Given the description of an element on the screen output the (x, y) to click on. 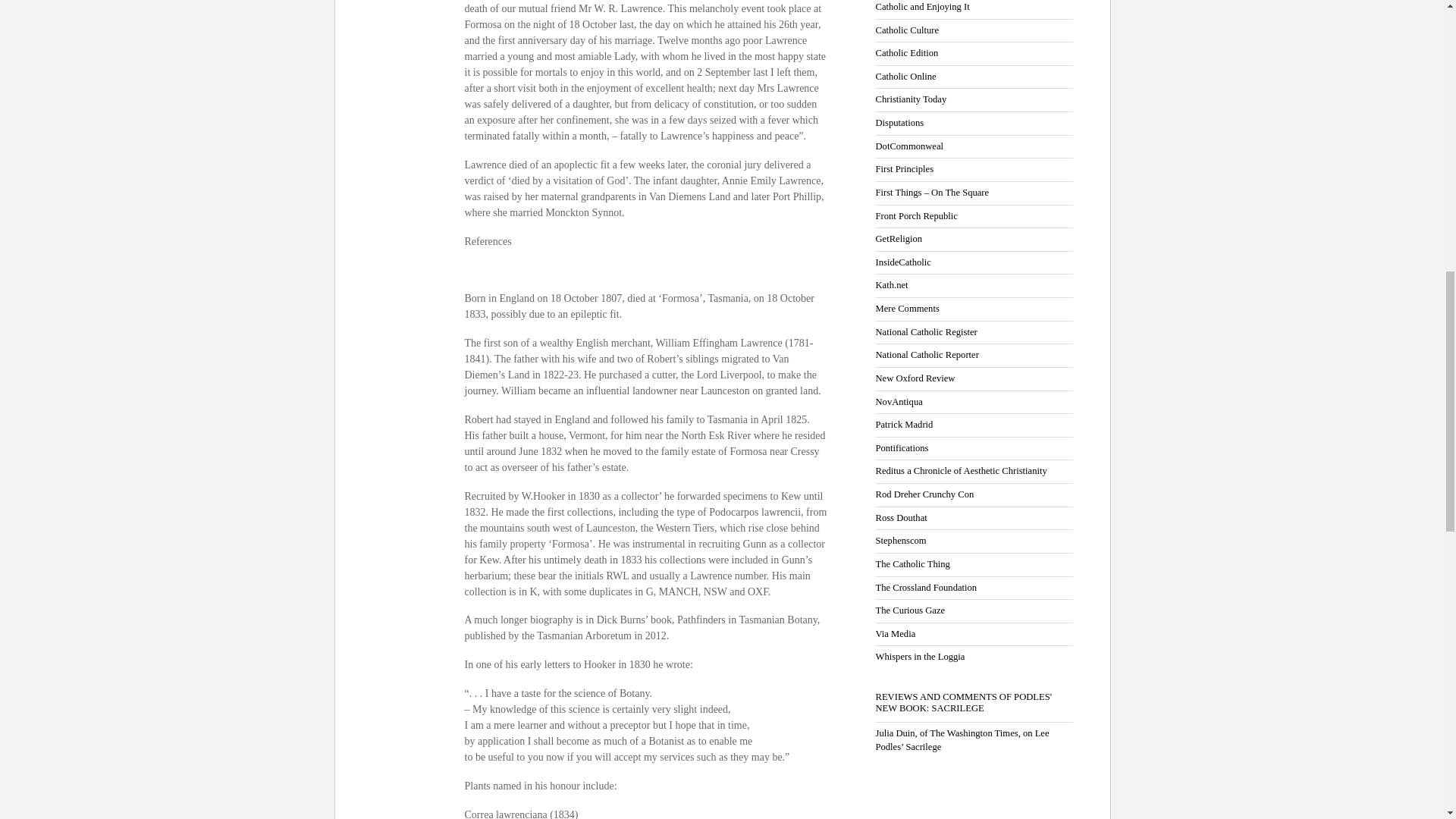
Online Catholic news source (906, 52)
Catholic and Enjoying It (922, 6)
Disputations (899, 122)
Catholic Online News. Inform. Inspire. Ignite. (905, 76)
A blog run by John da Fiesole   (899, 122)
DotCommonweal (909, 145)
Catholic Online (905, 76)
First Principles (904, 168)
Catholic Edition (906, 52)
Catholic Culture (907, 29)
Christianity Today (910, 99)
